Given the description of an element on the screen output the (x, y) to click on. 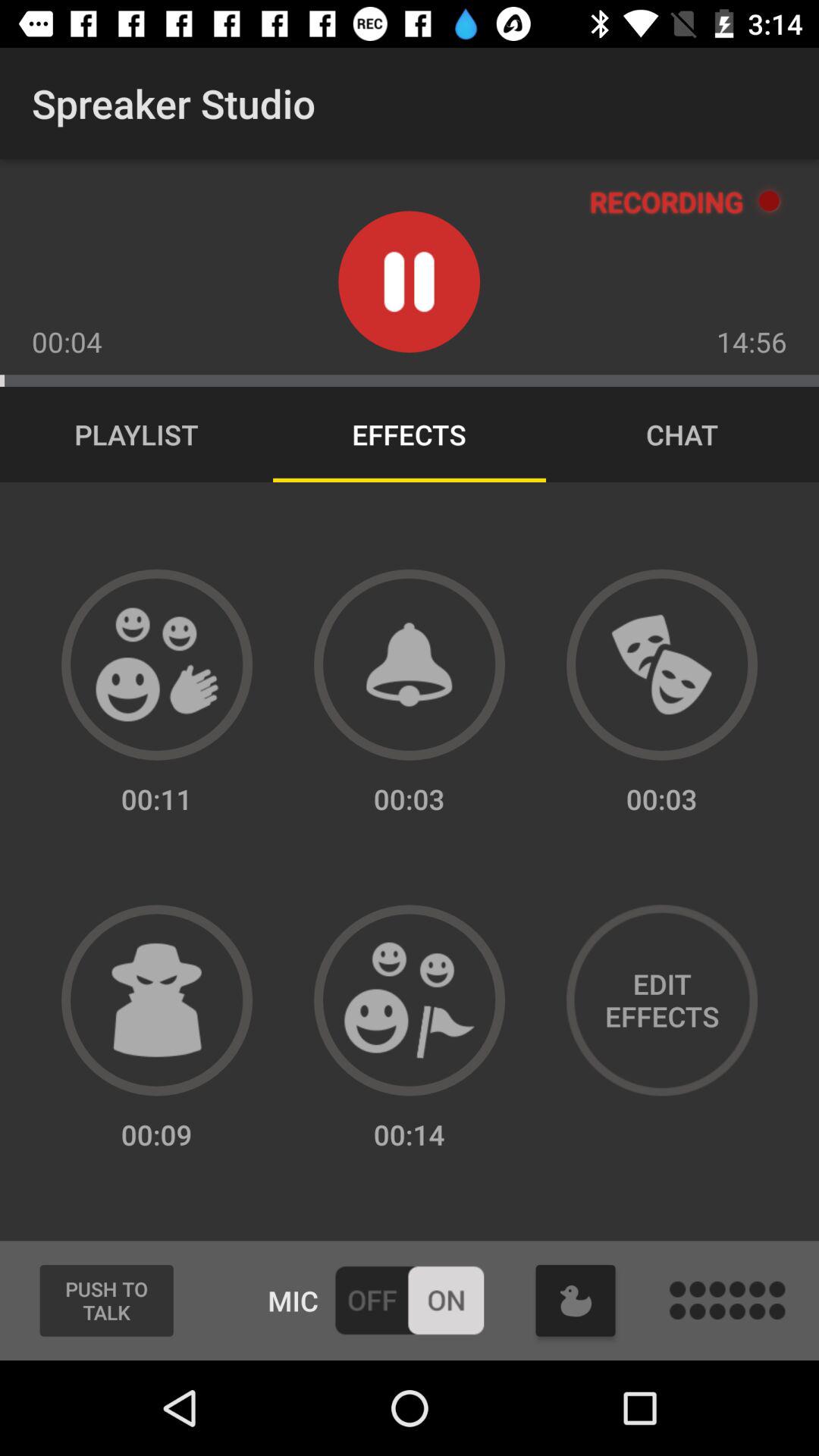
toggle microphone (409, 1300)
